Given the description of an element on the screen output the (x, y) to click on. 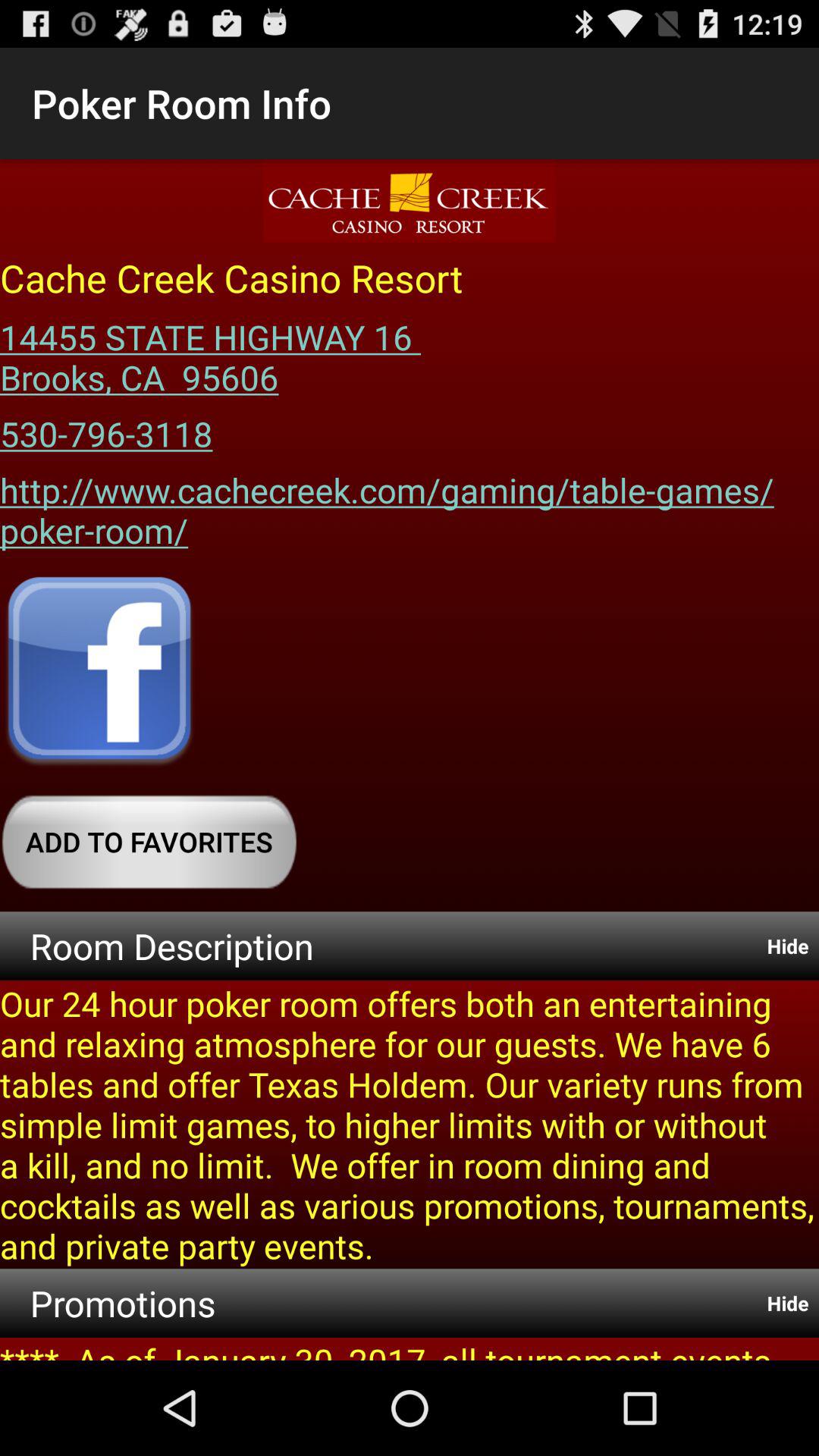
swipe to the 530-796-3118 app (106, 428)
